Given the description of an element on the screen output the (x, y) to click on. 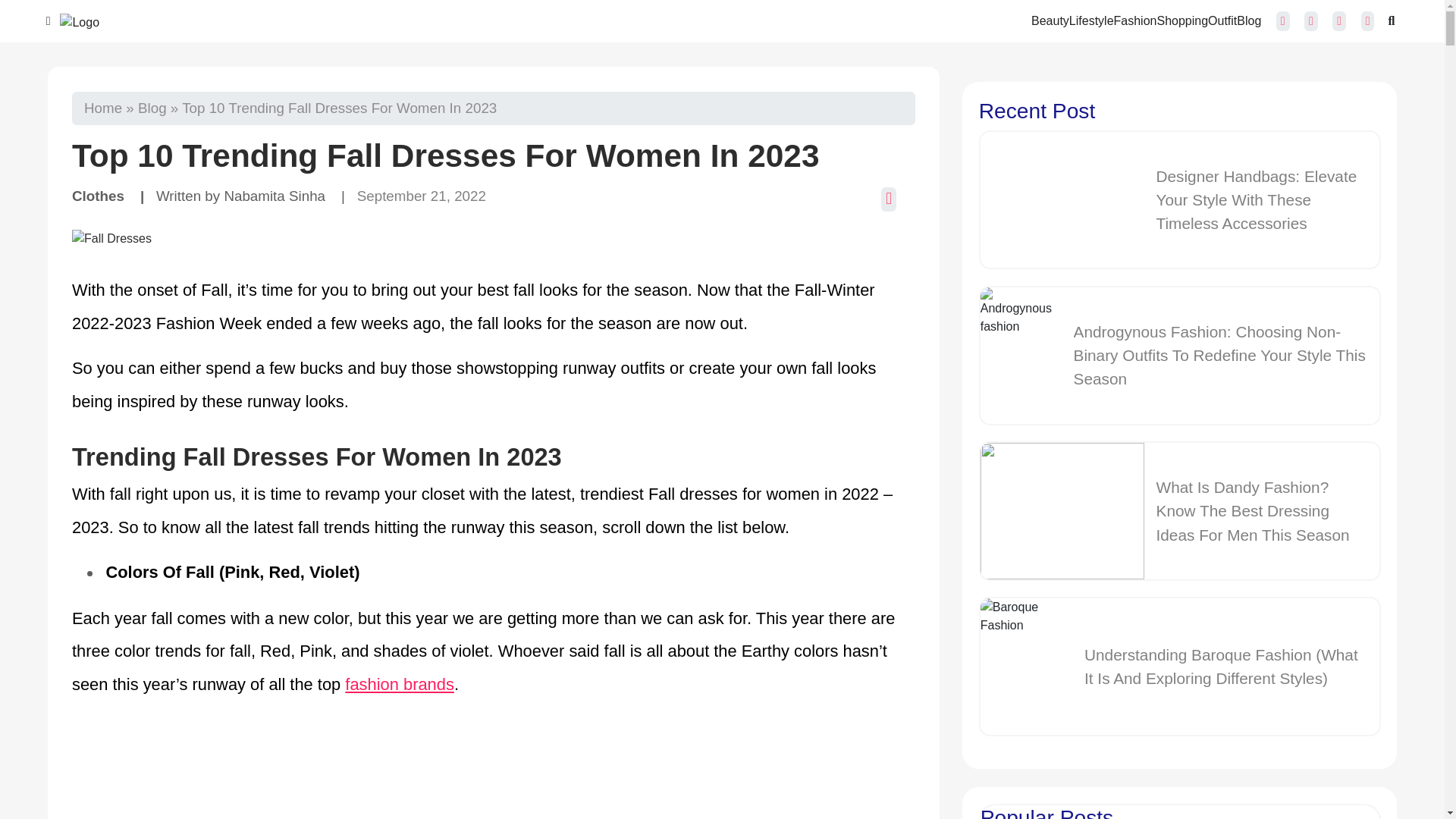
Clothes (97, 195)
Lifestyle (1090, 20)
Shopping (1182, 20)
Beauty (1049, 20)
Open Search Panel (1391, 20)
Nabamita Sinha (274, 195)
Outfit (1222, 20)
fashion brands (399, 684)
Blog (152, 107)
Home (103, 107)
